Given the description of an element on the screen output the (x, y) to click on. 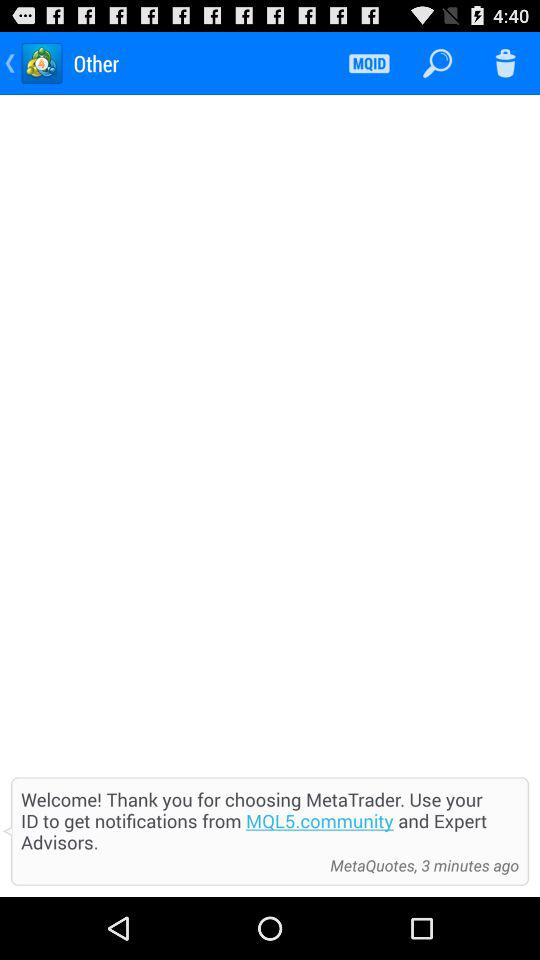
click welcome thank you item (270, 820)
